Given the description of an element on the screen output the (x, y) to click on. 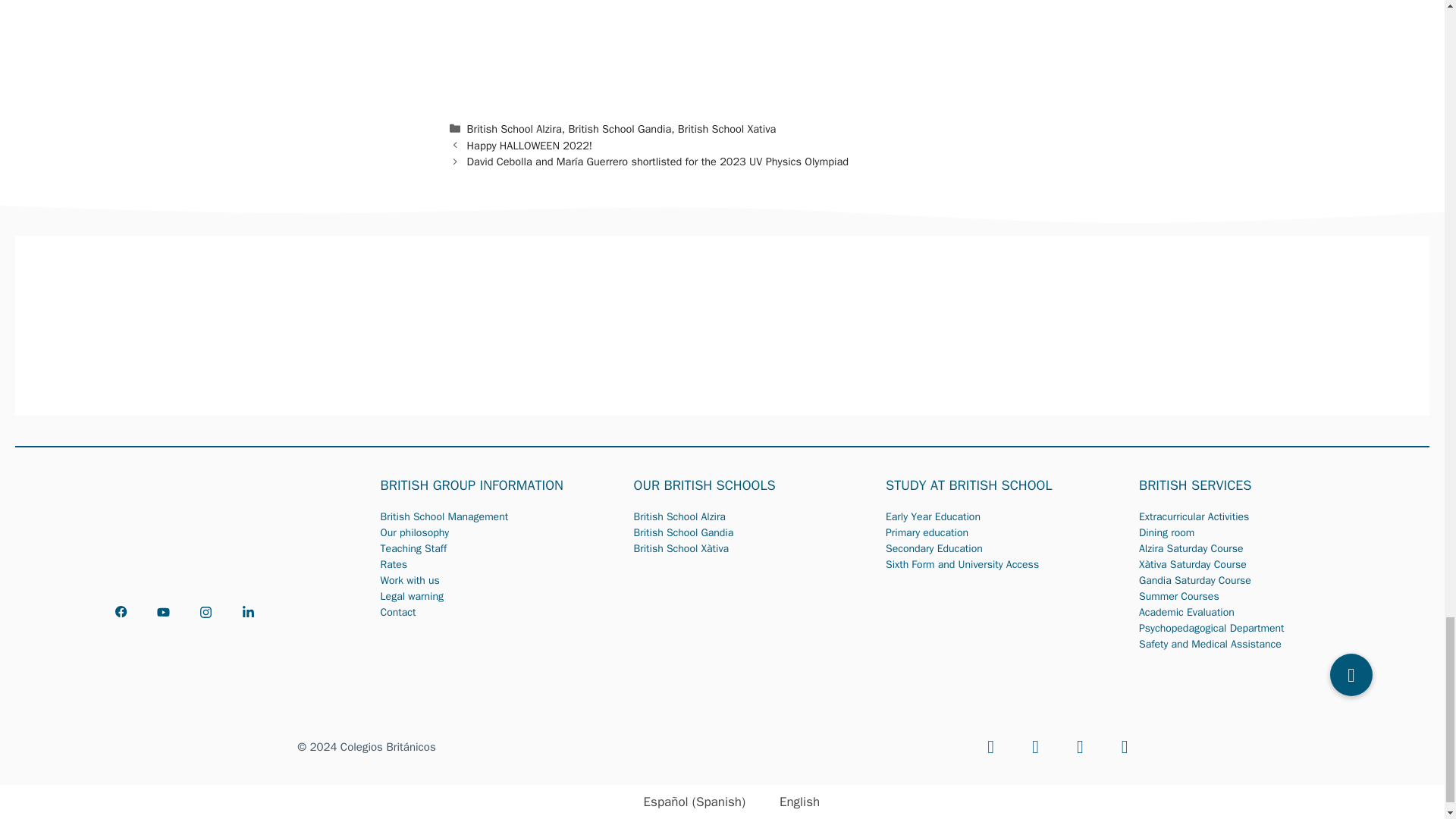
Youtube (1035, 746)
Facebook (990, 746)
Instagram (1080, 746)
Linkedin (1124, 746)
